Given the description of an element on the screen output the (x, y) to click on. 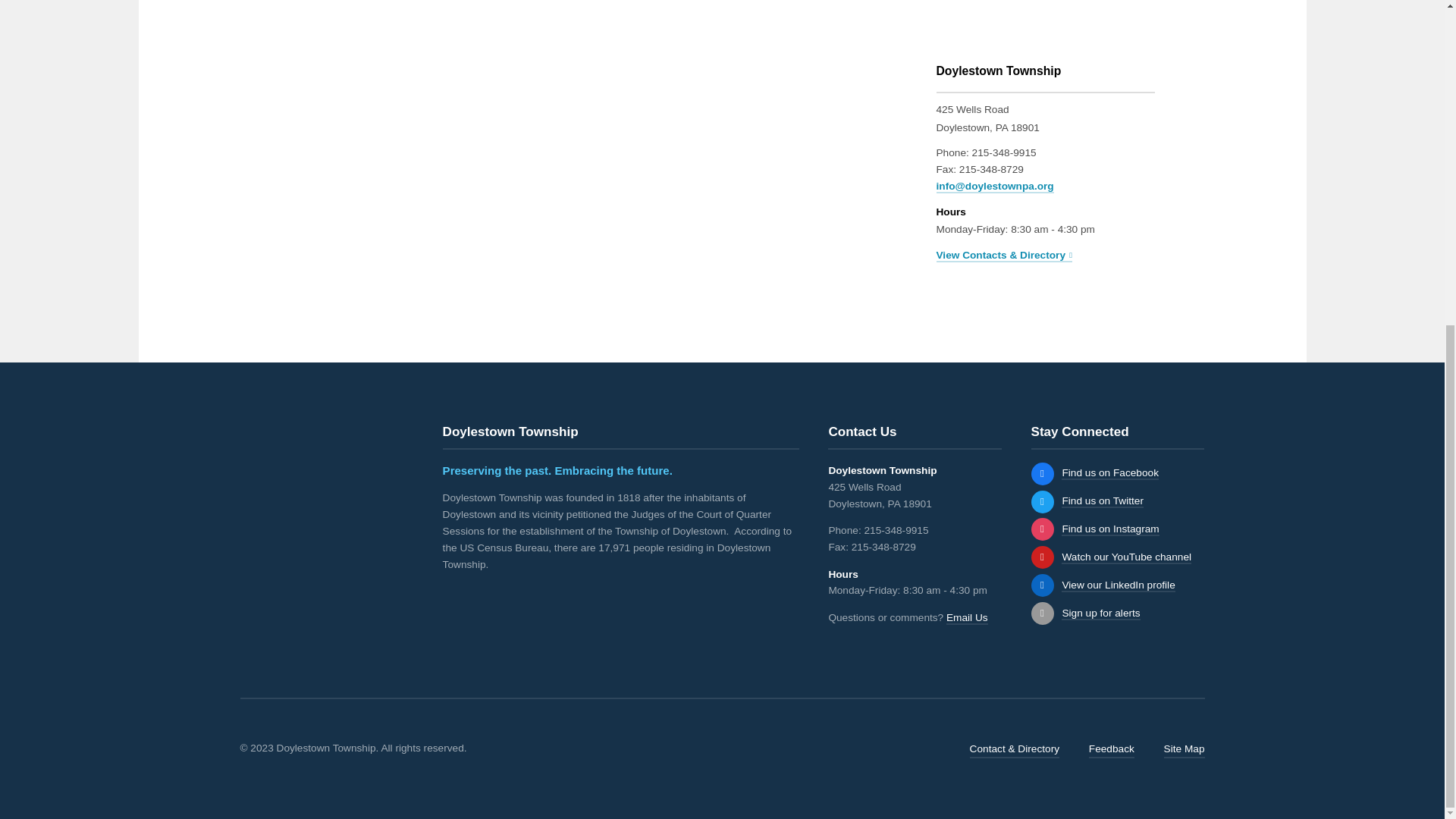
Find us on Twitter (1101, 501)
Find us on Instagram (1109, 529)
Watch our YouTube channel (1042, 557)
Find us on Instagram (1042, 528)
Watch our YouTube channel (1126, 557)
Find us on Facebook (1109, 472)
Find us on Twitter (1042, 501)
View our LinkedIn profile (1117, 585)
View our LinkedIn profile (1042, 585)
Find us on Facebook (1042, 473)
